Given the description of an element on the screen output the (x, y) to click on. 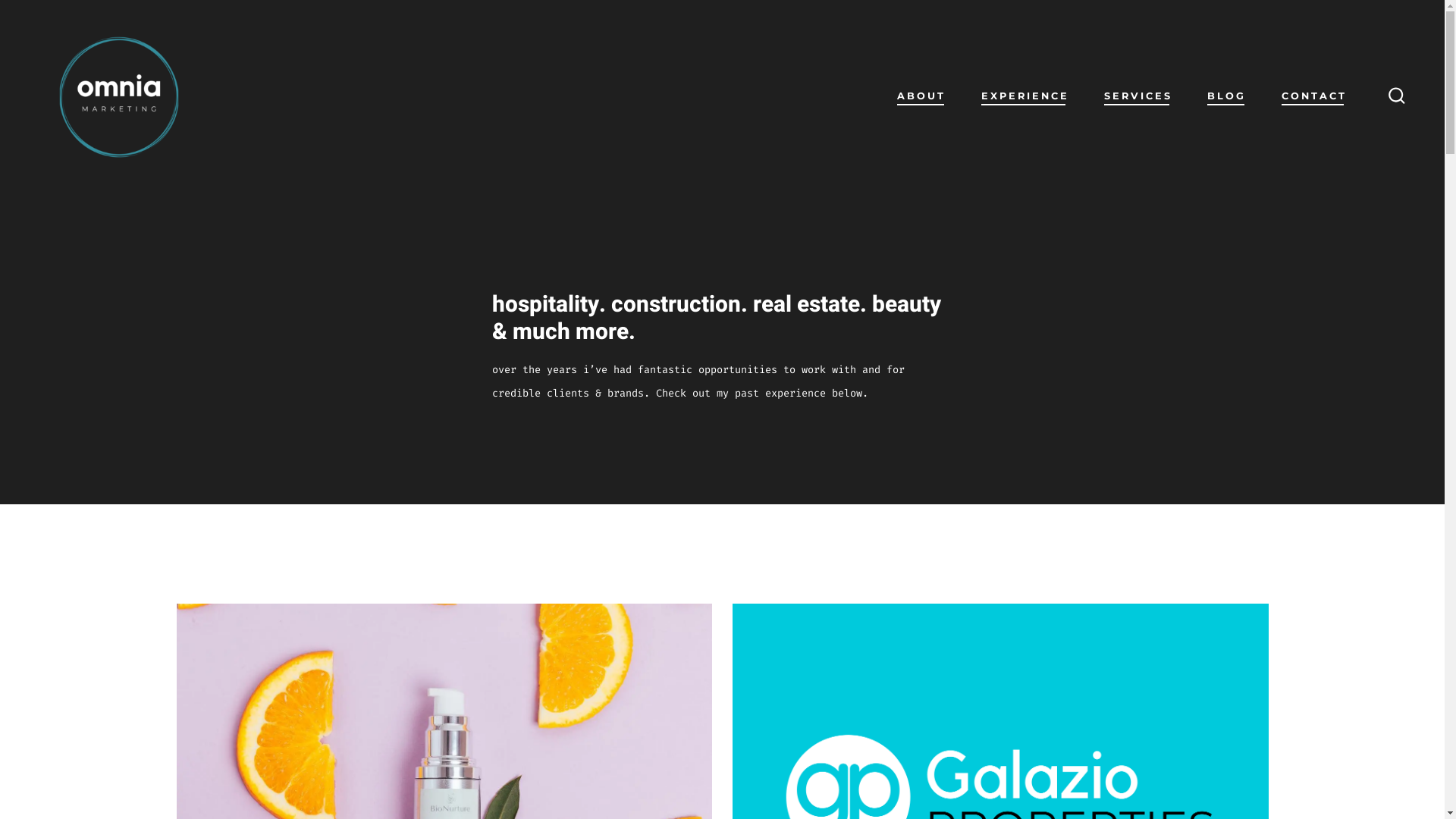
BLOG Element type: text (1226, 96)
EXPERIENCE Element type: text (1025, 96)
CONTACT Element type: text (1313, 96)
SEARCH TOGGLE Element type: text (1396, 96)
SERVICES Element type: text (1138, 96)
ABOUT Element type: text (921, 96)
